Given the description of an element on the screen output the (x, y) to click on. 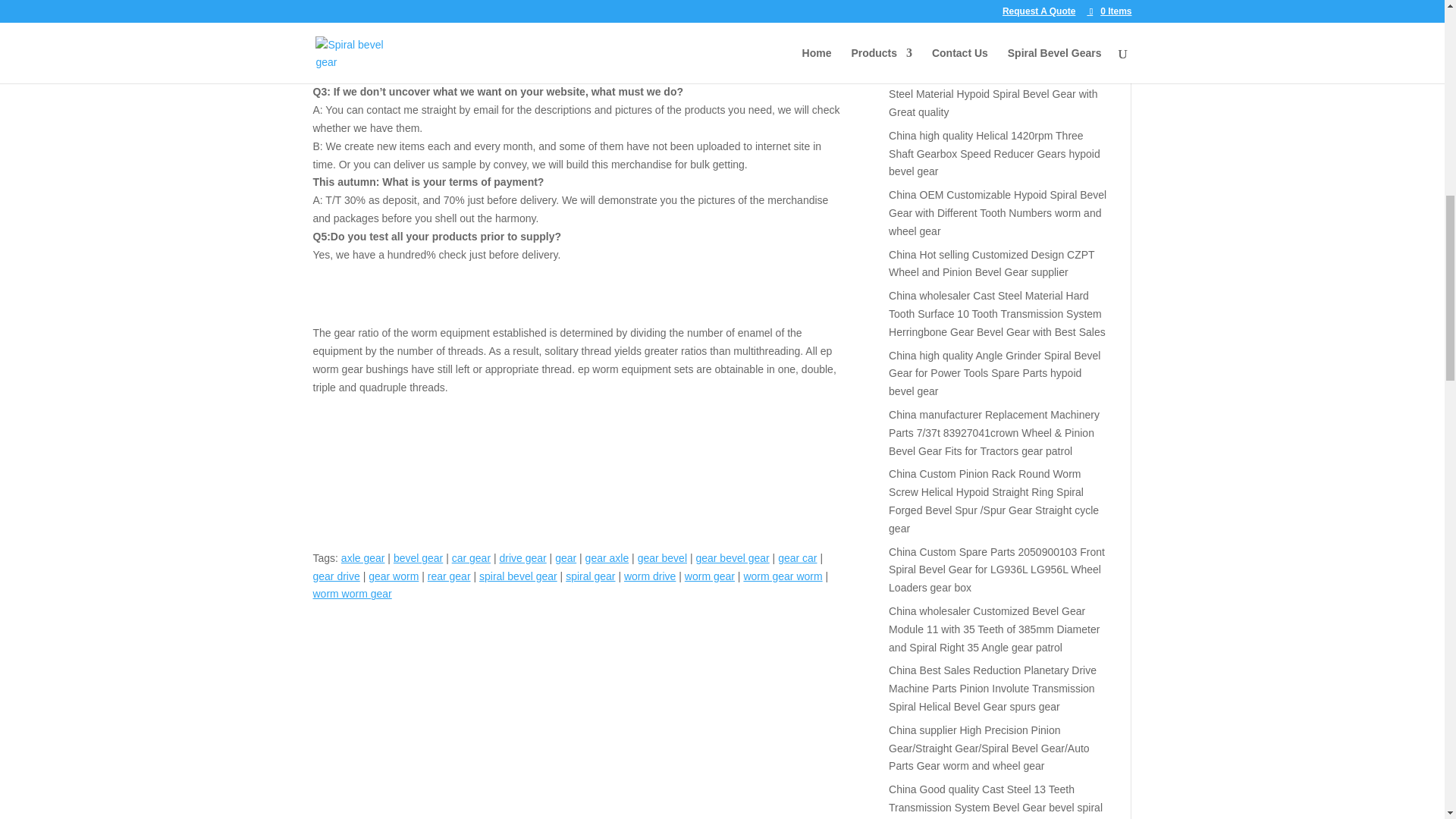
car gear (470, 558)
spiral bevel gear (518, 576)
gear worm (393, 576)
gear drive (336, 576)
gear bevel (662, 558)
gear axle (606, 558)
worm drive (649, 576)
gear car (796, 558)
spiral gear (590, 576)
bevel gear (417, 558)
gear (565, 558)
